Given the description of an element on the screen output the (x, y) to click on. 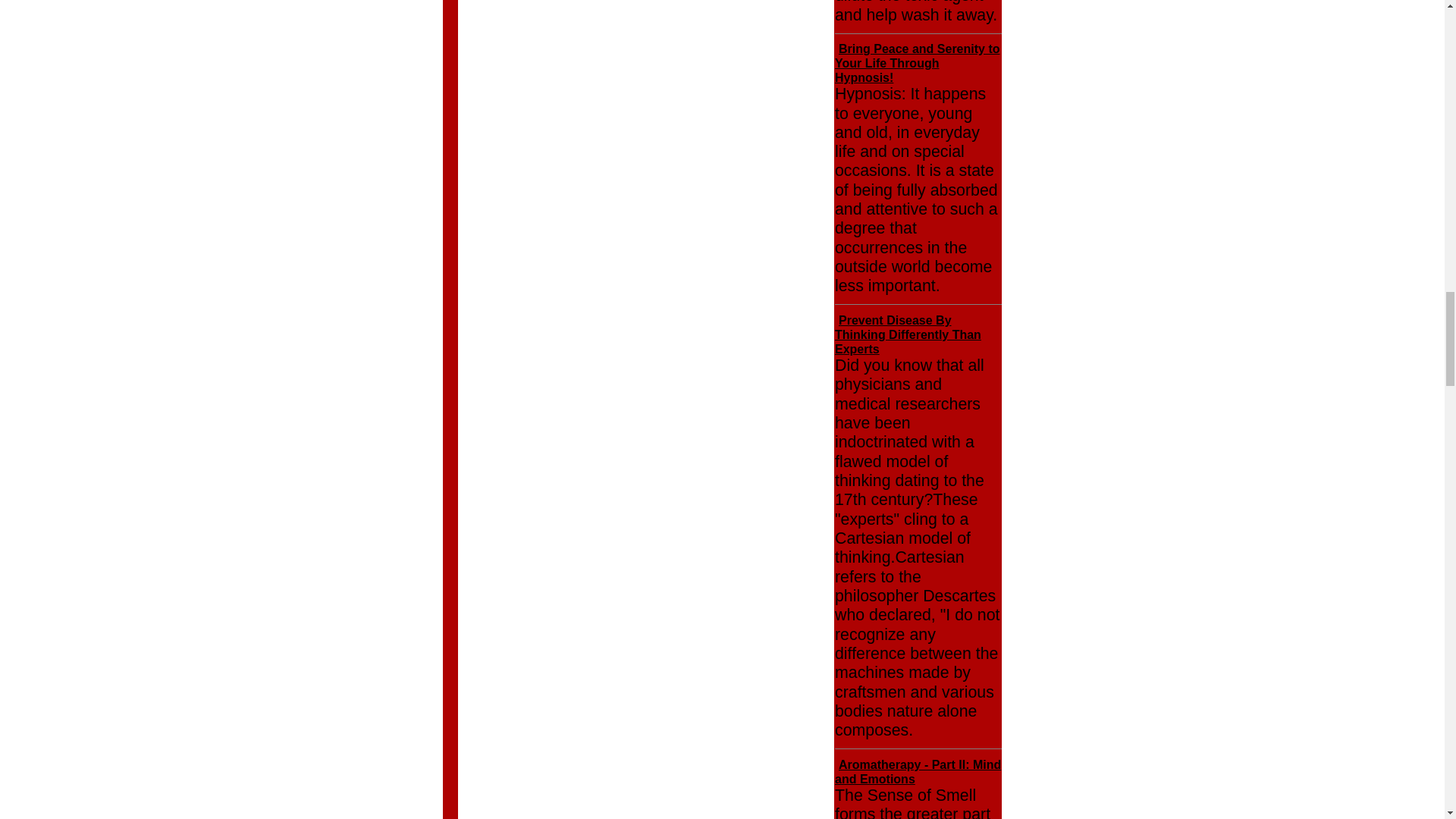
Aromatherapy - Part II: Mind and Emotions (917, 771)
Bring Peace and Serenity to Your Life Through Hypnosis! (917, 63)
Prevent Disease By Thinking Differently Than Experts (907, 334)
